Given the description of an element on the screen output the (x, y) to click on. 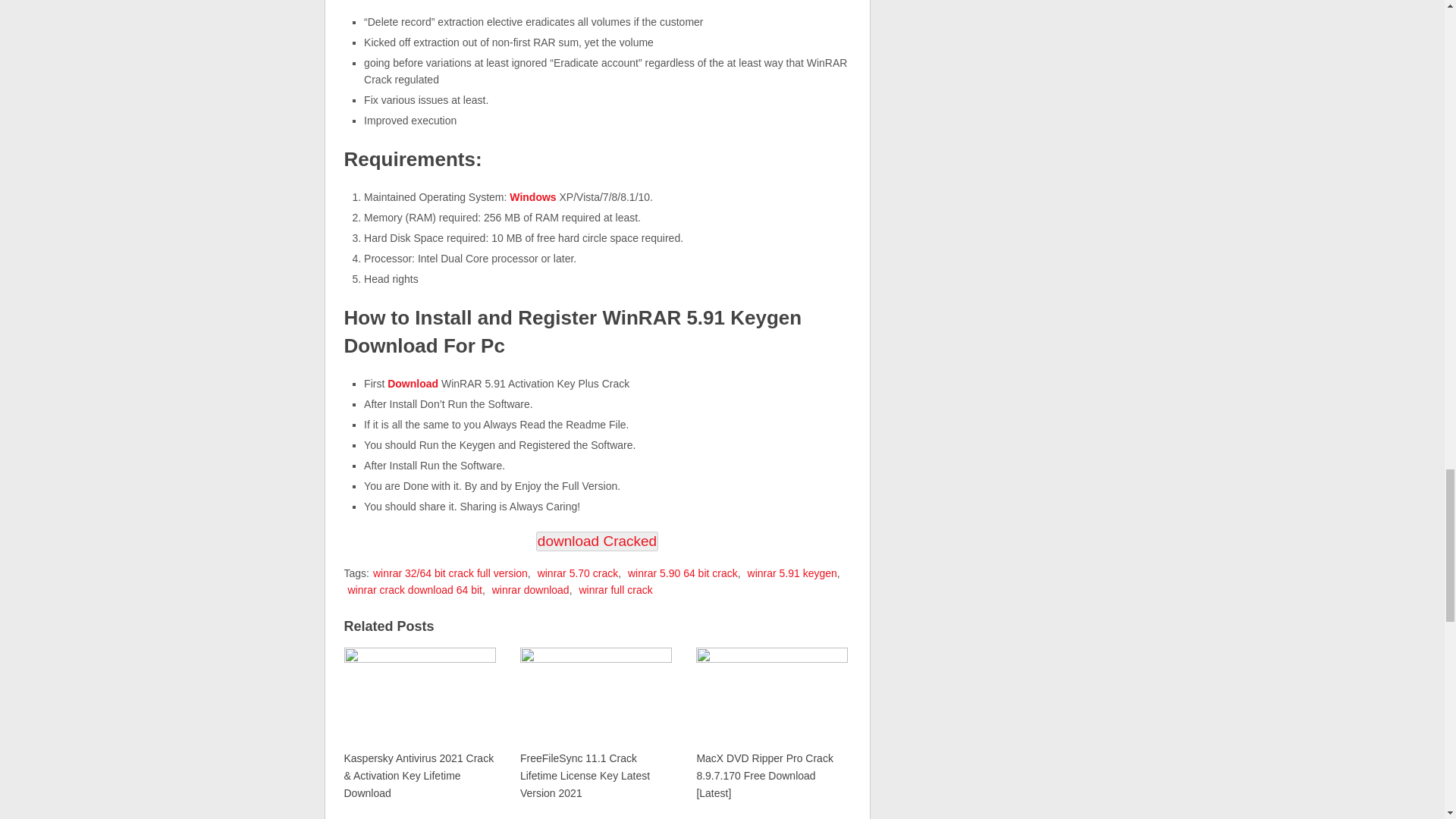
winrar 5.91 keygen (792, 573)
download Cracked (596, 541)
download Cracked (596, 541)
winrar crack download 64 bit (414, 589)
Windows (532, 196)
winrar download (530, 589)
winrar 5.90 64 bit crack (682, 573)
Download (414, 383)
winrar 5.70 crack (577, 573)
